Given the description of an element on the screen output the (x, y) to click on. 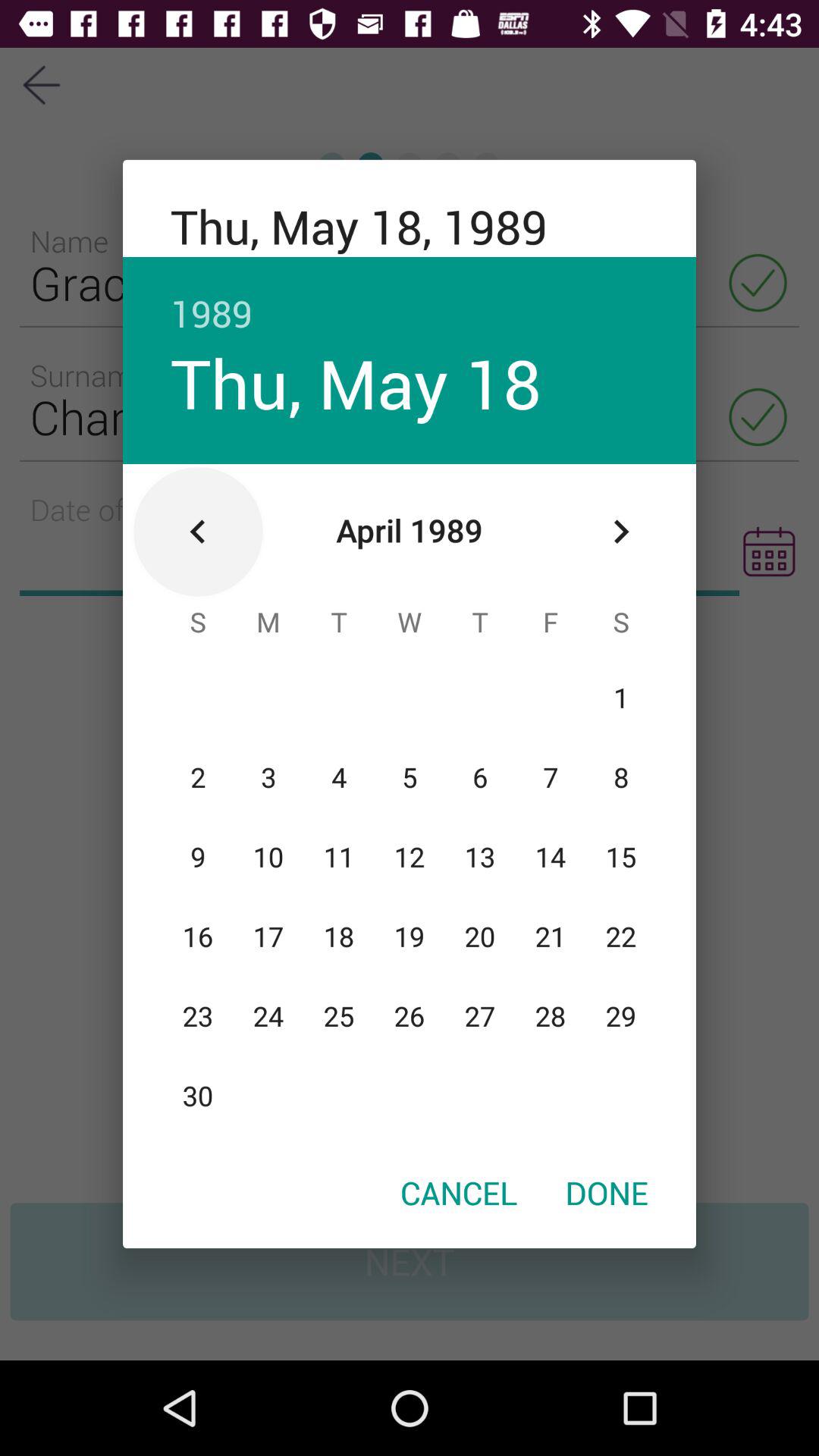
launch item below the thu, may 18 item (197, 531)
